Given the description of an element on the screen output the (x, y) to click on. 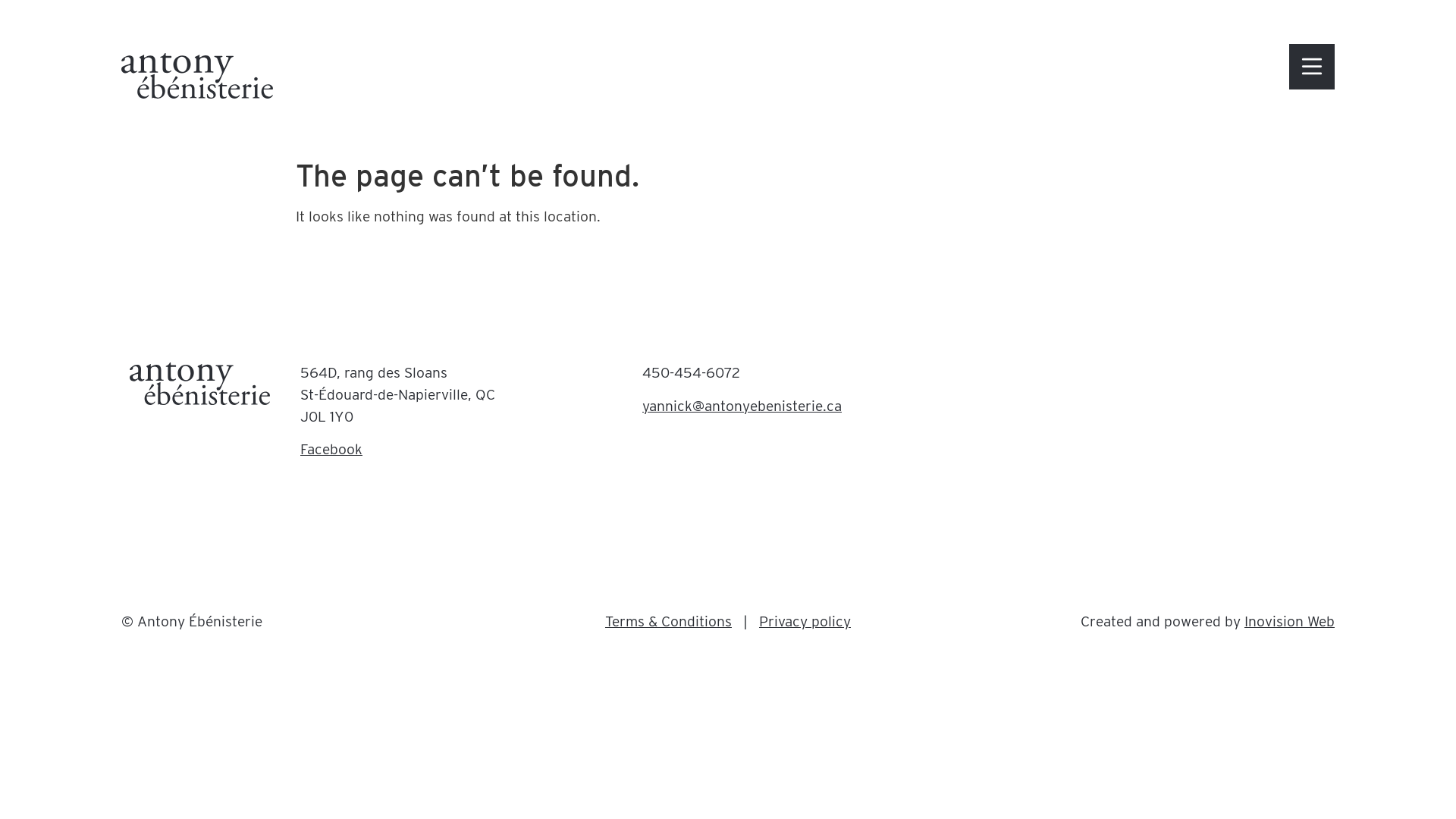
Terms & Conditions Element type: text (668, 621)
Facebook Element type: text (331, 449)
450-454-6072 Element type: text (691, 372)
yannick@antonyebenisterie.ca Element type: text (741, 405)
Inovision Web Element type: text (1289, 621)
Privacy policy Element type: text (804, 621)
